Given the description of an element on the screen output the (x, y) to click on. 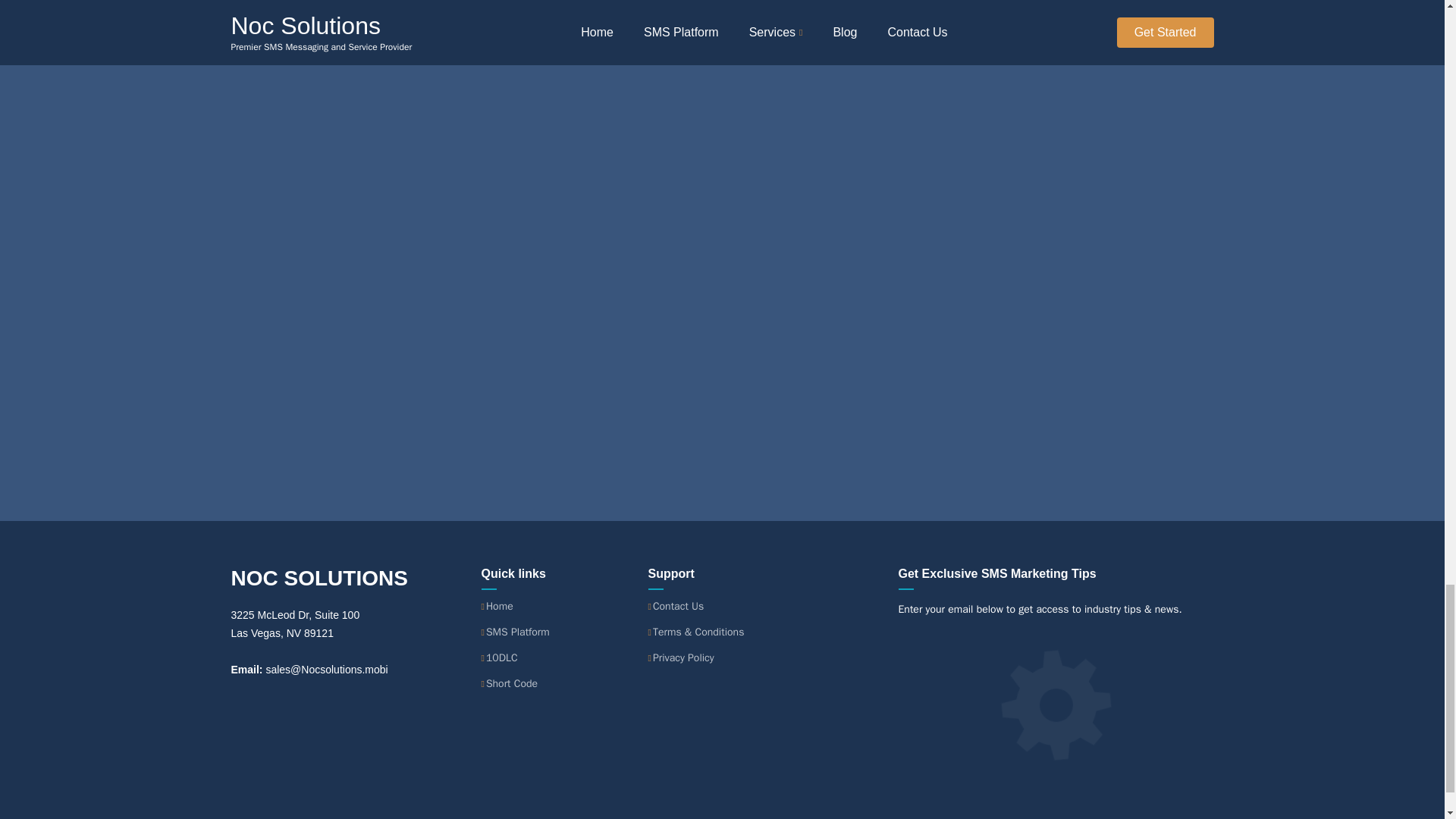
Short Code (511, 683)
Privacy Policy (683, 657)
SMS Platform (518, 632)
Home (499, 606)
Contact Us (677, 606)
10DLC (502, 657)
